Given the description of an element on the screen output the (x, y) to click on. 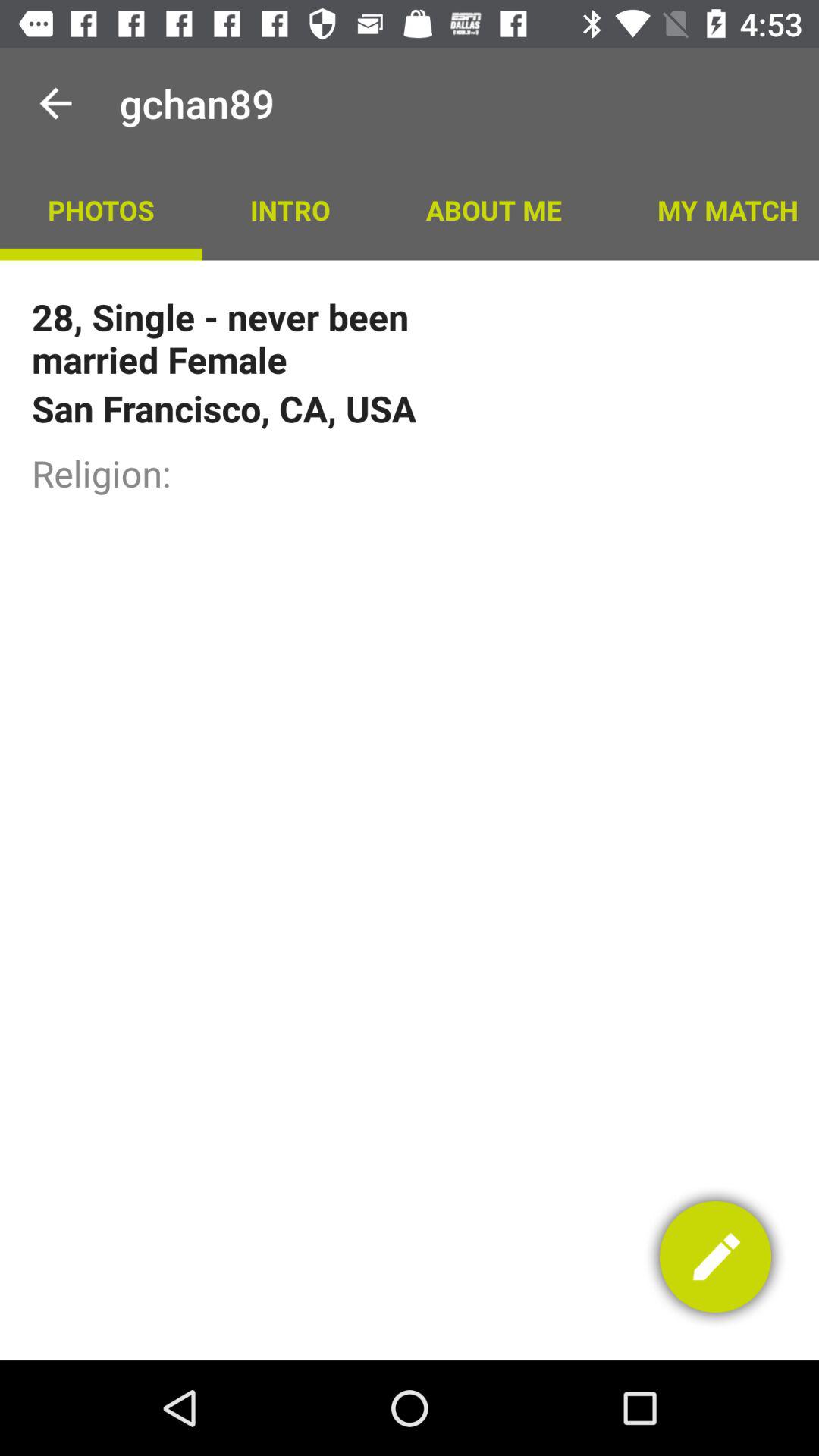
turn off the icon at the top right corner (714, 209)
